Given the description of an element on the screen output the (x, y) to click on. 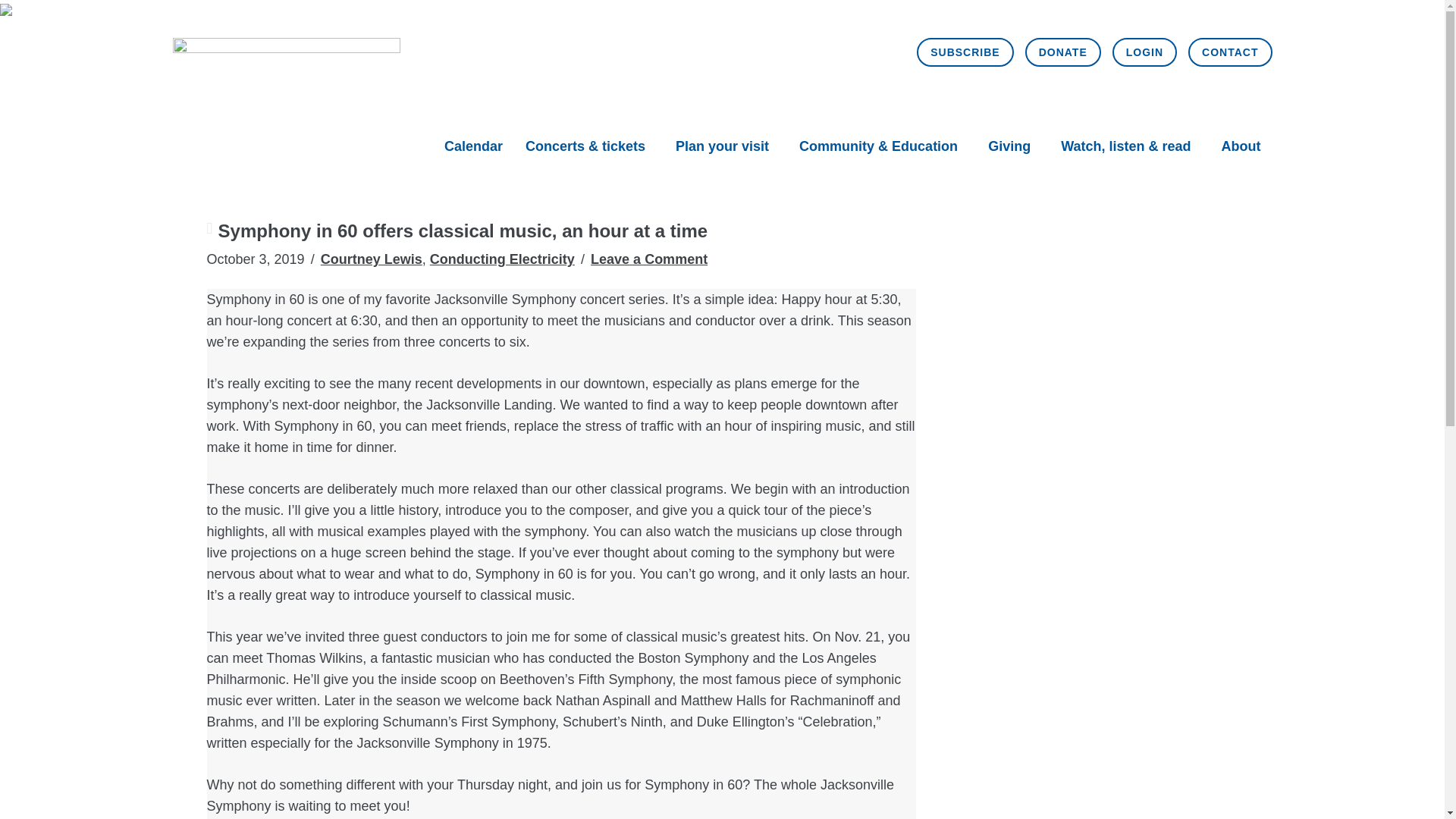
Giving (1009, 146)
LOGIN (1144, 51)
SUBSCRIBE (965, 51)
Calendar (473, 146)
DONATE (1062, 51)
Plan your visit (721, 146)
CONTACT (1229, 51)
About (1240, 146)
